Given the description of an element on the screen output the (x, y) to click on. 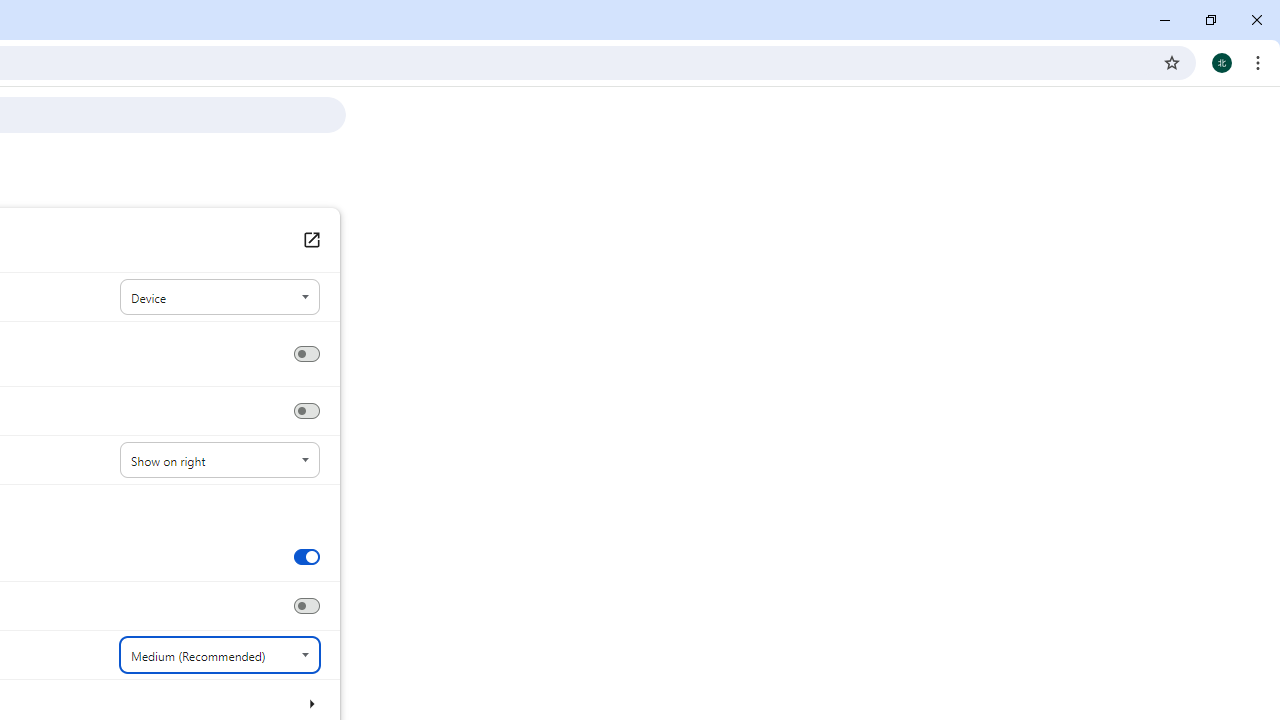
Show home button (306, 354)
Show bookmarks bar (306, 411)
Font size (219, 655)
Show tab memory usage (306, 606)
Side panel position (219, 460)
Customize fonts (310, 703)
Show tab preview images (306, 556)
Theme Open Chrome Web Store (310, 240)
Mode (219, 297)
